Given the description of an element on the screen output the (x, y) to click on. 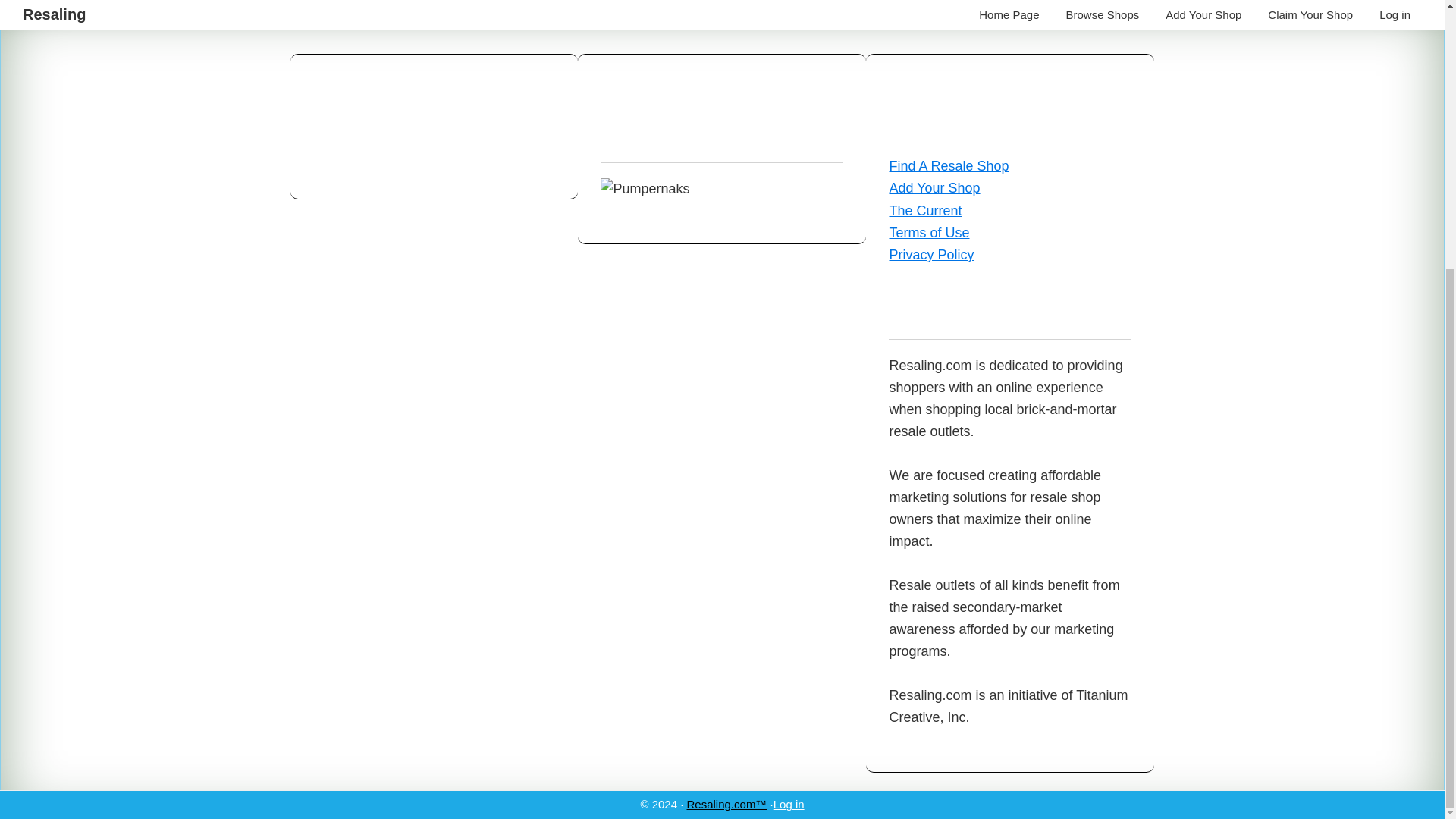
Privacy Policy (931, 254)
Find A Resale Shop (948, 165)
The Current (924, 210)
Add Your Shop (933, 187)
Terms of Use (928, 232)
Log in (789, 410)
